Given the description of an element on the screen output the (x, y) to click on. 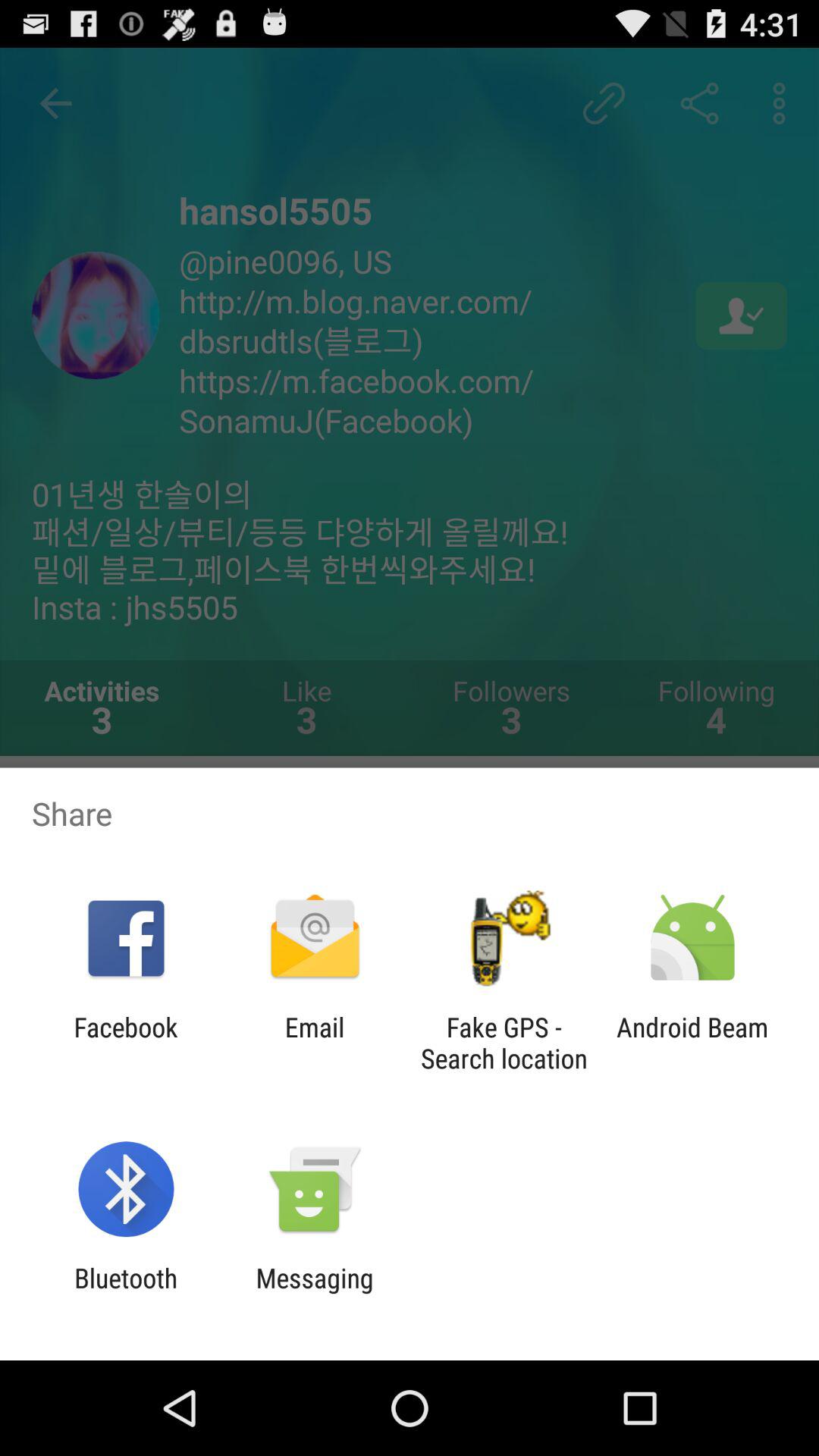
open the item to the left of the fake gps search app (314, 1042)
